Given the description of an element on the screen output the (x, y) to click on. 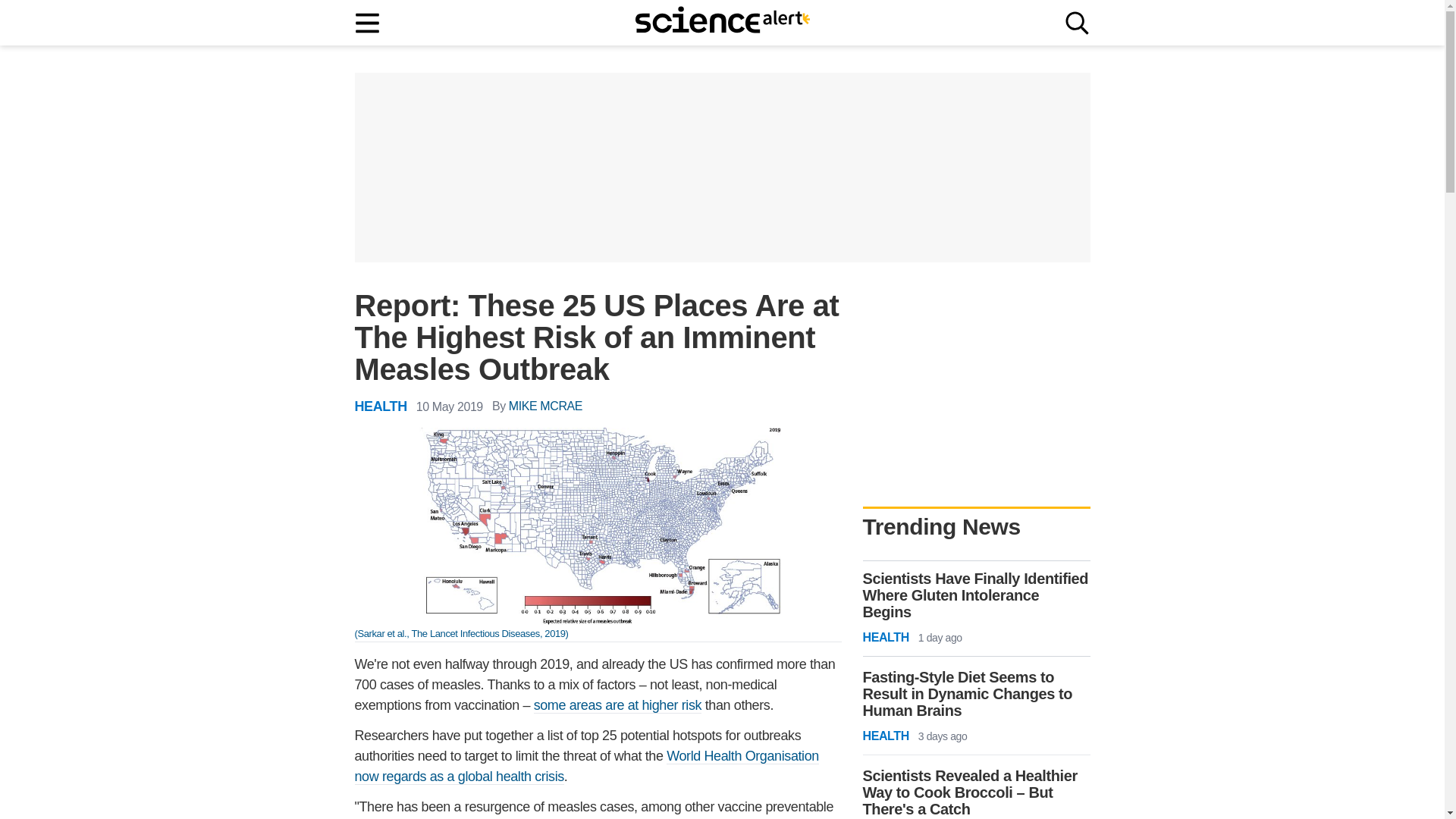
HEALTH (381, 406)
some areas are at higher risk (617, 705)
MIKE MCRAE (545, 405)
World Health Organisation (742, 756)
now regards as a global health crisis (459, 776)
